Given the description of an element on the screen output the (x, y) to click on. 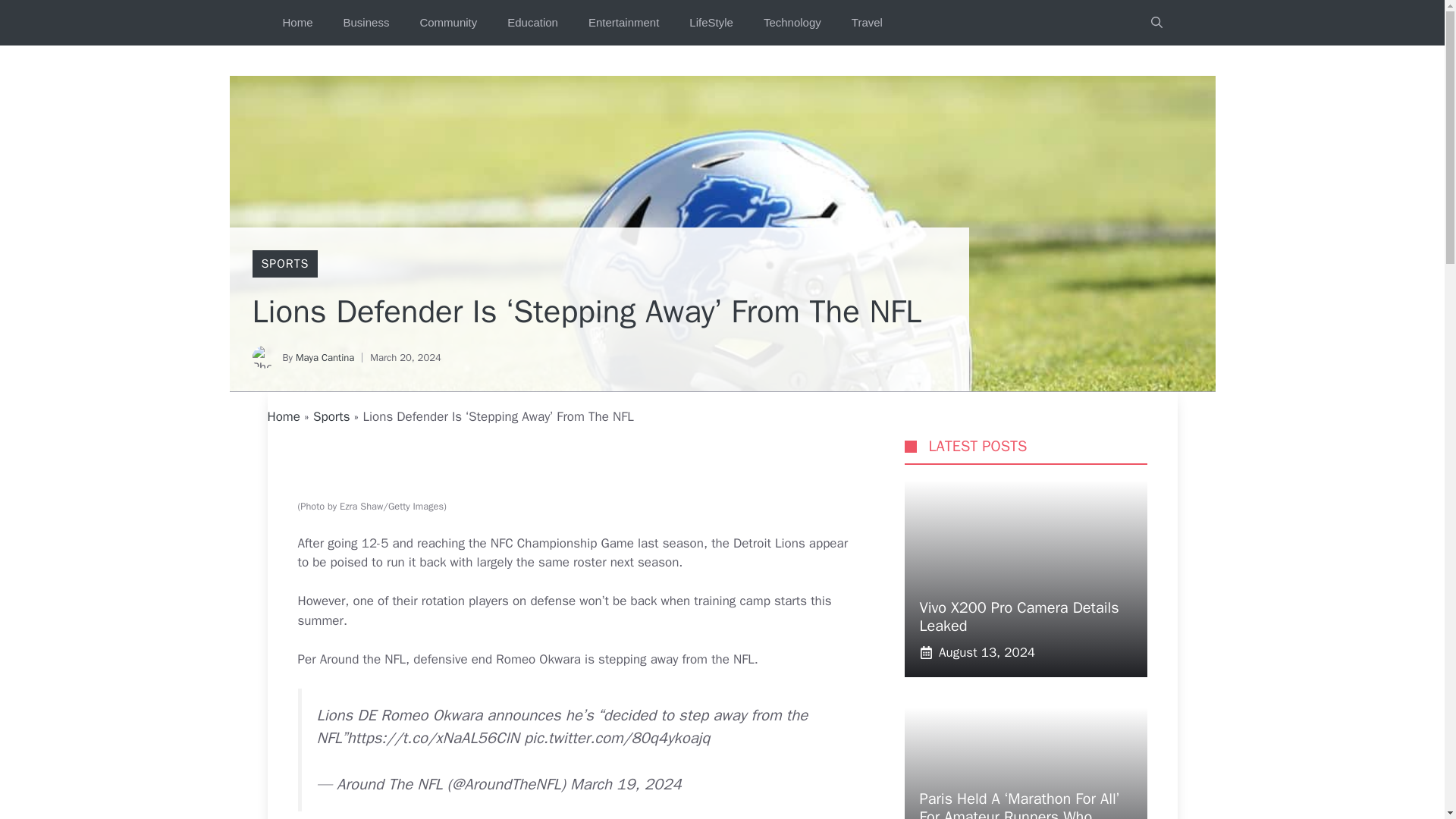
Community (448, 22)
Technology (791, 22)
Business (366, 22)
Education (532, 22)
Vivo X200 Pro Camera Details Leaked (1018, 616)
SPORTS (284, 263)
Sports (331, 416)
Home (296, 22)
Travel (866, 22)
LifeStyle (711, 22)
